Given the description of an element on the screen output the (x, y) to click on. 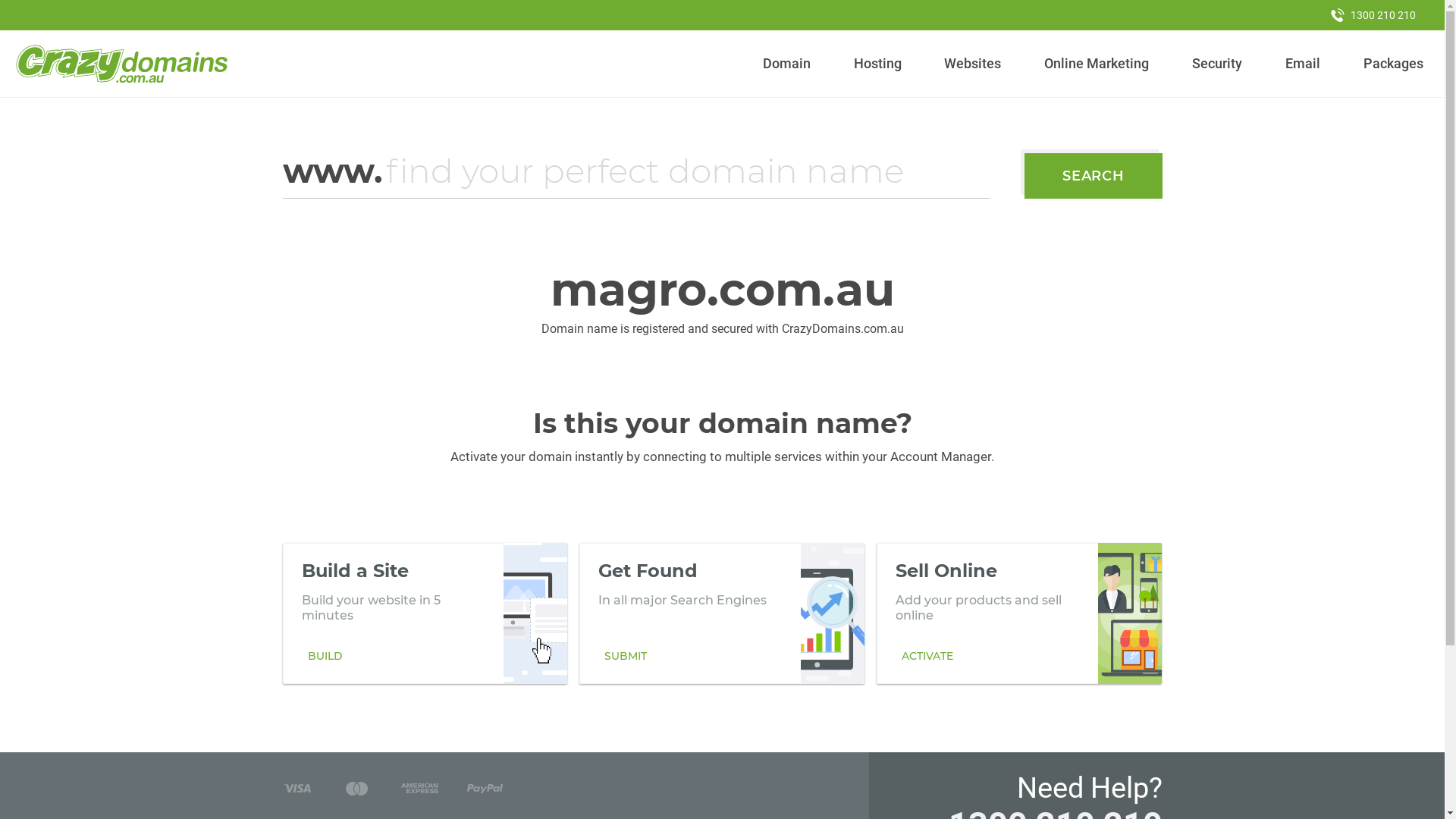
Email Element type: text (1302, 63)
Hosting Element type: text (877, 63)
1300 210 210 Element type: text (1373, 15)
Security Element type: text (1217, 63)
Websites Element type: text (972, 63)
Build a Site
Build your website in 5 minutes
BUILD Element type: text (424, 613)
SEARCH Element type: text (1092, 175)
Get Found
In all major Search Engines
SUBMIT Element type: text (721, 613)
Packages Element type: text (1392, 63)
Sell Online
Add your products and sell online
ACTIVATE Element type: text (1018, 613)
Domain Element type: text (786, 63)
Online Marketing Element type: text (1096, 63)
